Given the description of an element on the screen output the (x, y) to click on. 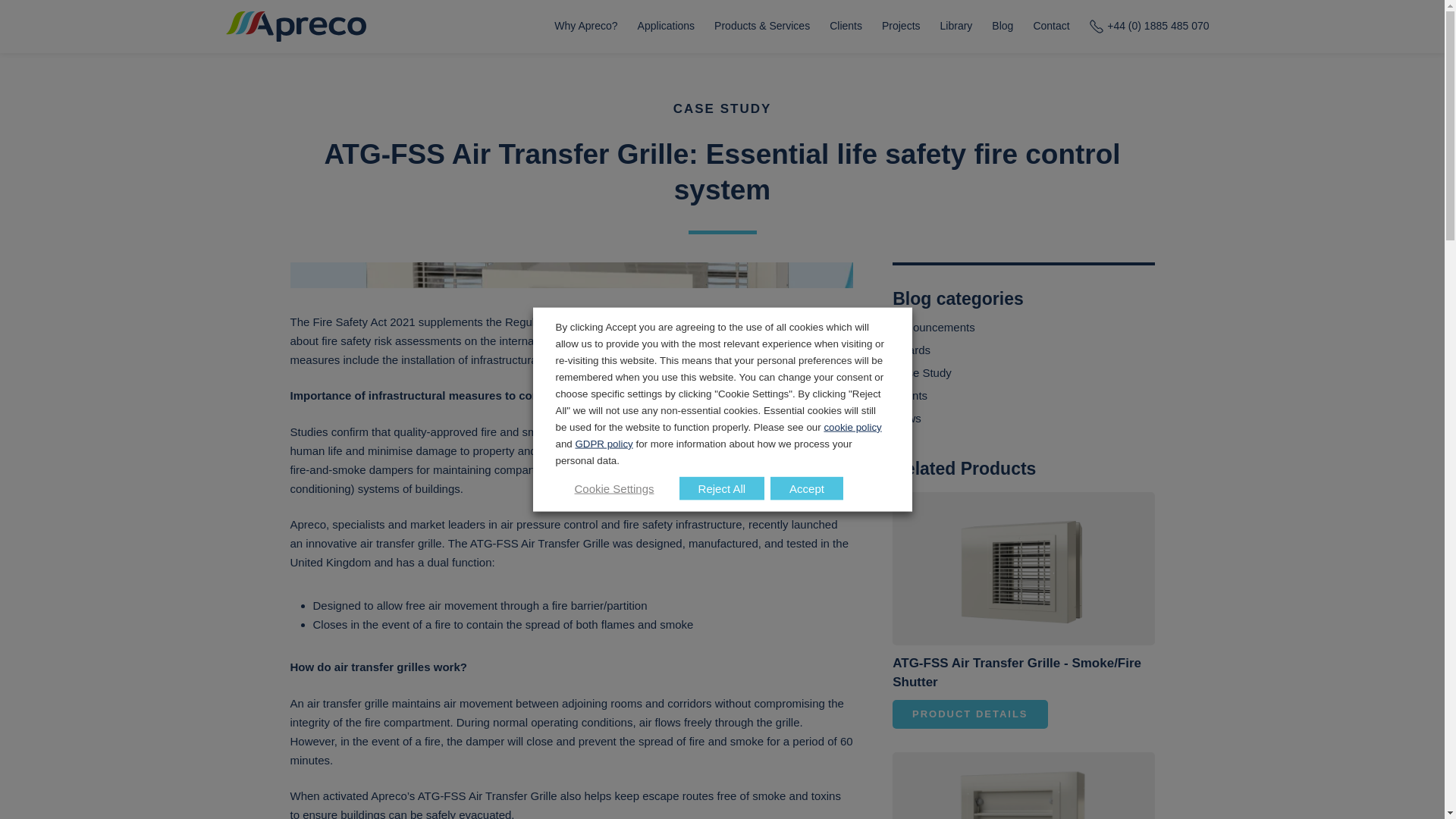
Library (956, 26)
Contact (1050, 26)
Clients (845, 26)
ATG-FSS-400-x-400-Open-Damper (1023, 568)
Call us (1150, 26)
Why Apreco? (585, 26)
Applications (665, 26)
Projects (901, 26)
